Given the description of an element on the screen output the (x, y) to click on. 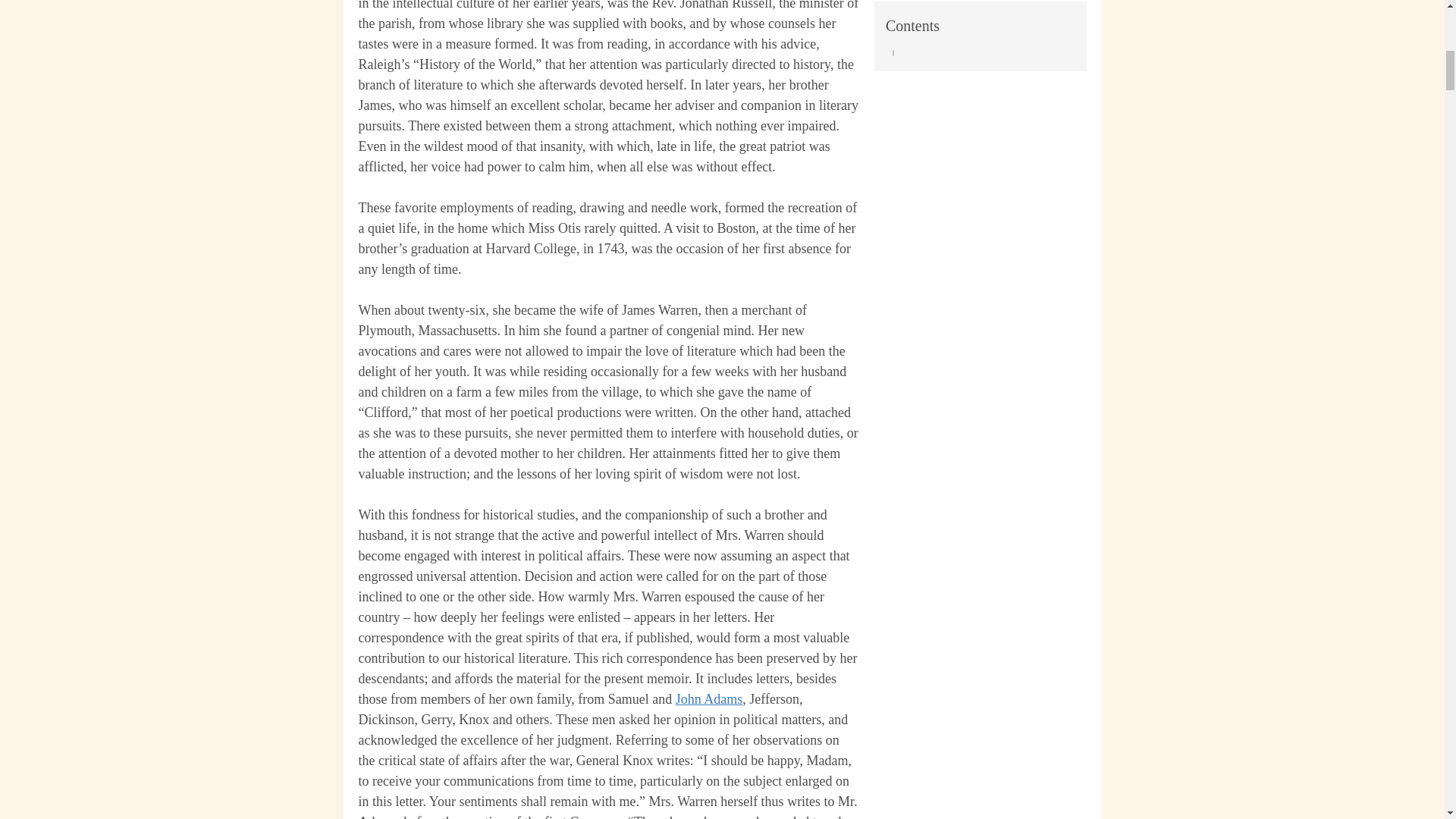
Scroll back to top (1406, 720)
